Given the description of an element on the screen output the (x, y) to click on. 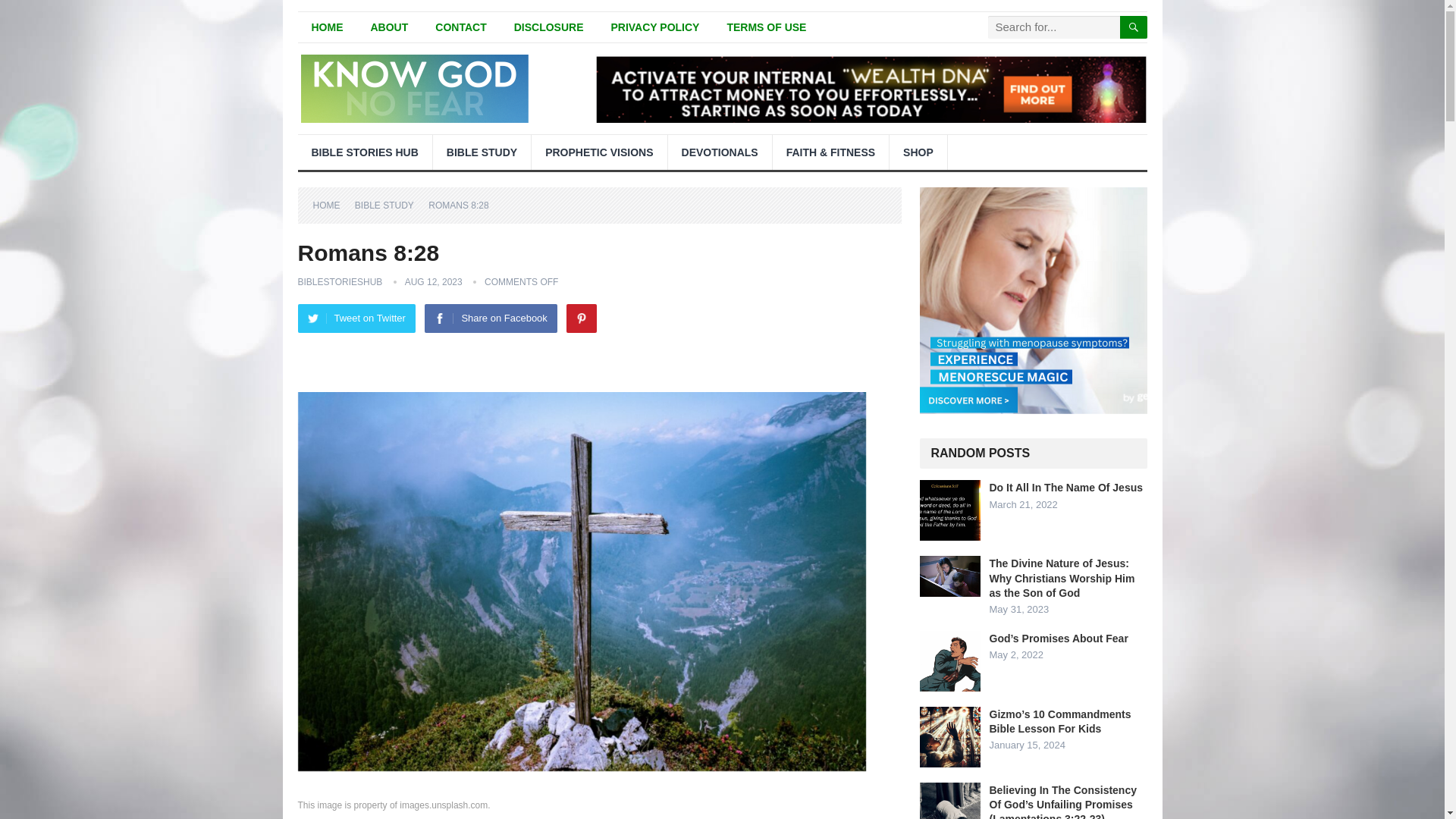
Tweet on Twitter (355, 317)
PRIVACY POLICY (654, 27)
PROPHETIC VISIONS (598, 152)
ABOUT (389, 27)
Posts by biblestorieshub (339, 281)
SHOP (918, 152)
View all posts in Bible Study (390, 204)
TERMS OF USE (766, 27)
HOME (331, 204)
CONTACT (460, 27)
